Given the description of an element on the screen output the (x, y) to click on. 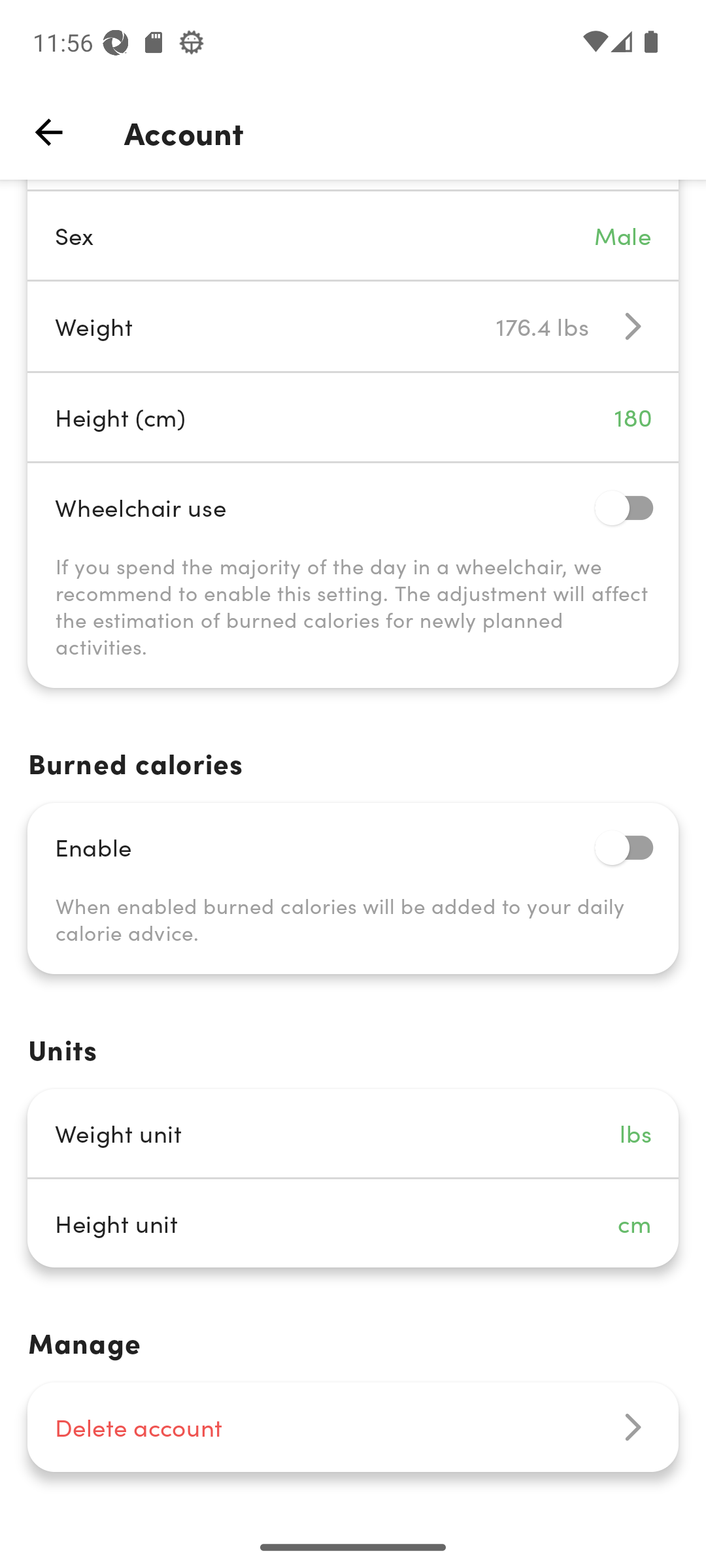
top_left_action (48, 132)
Sex Male (352, 235)
Weight 176.4 lbs (352, 326)
Height (cm) 180 (352, 416)
Wheelchair use (352, 506)
Enable (352, 846)
Weight unit lbs (352, 1133)
Height unit cm (352, 1222)
Delete account (352, 1427)
